Given the description of an element on the screen output the (x, y) to click on. 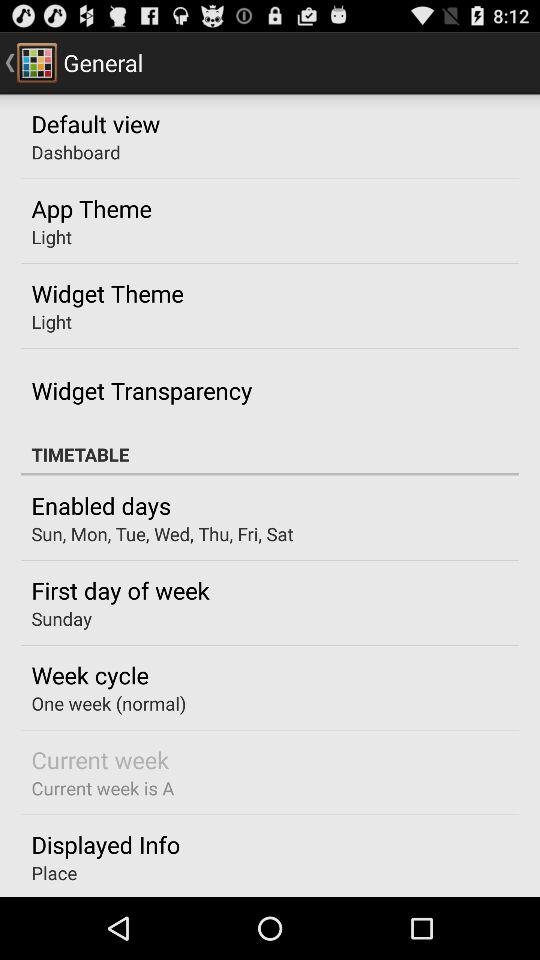
launch app below week cycle app (108, 703)
